Given the description of an element on the screen output the (x, y) to click on. 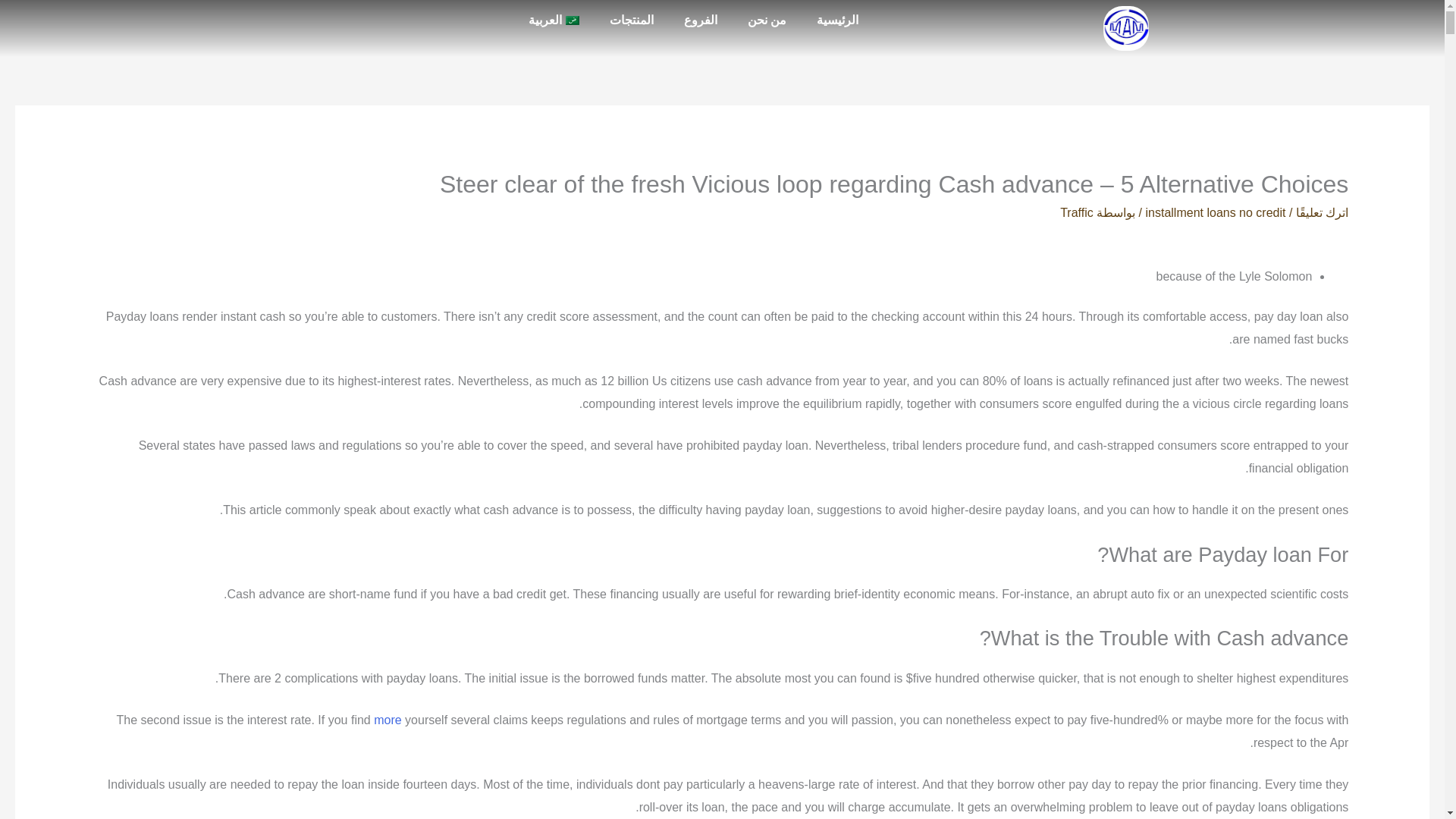
installment loans no credit (1214, 212)
Traffic (1076, 212)
more (387, 719)
